Given the description of an element on the screen output the (x, y) to click on. 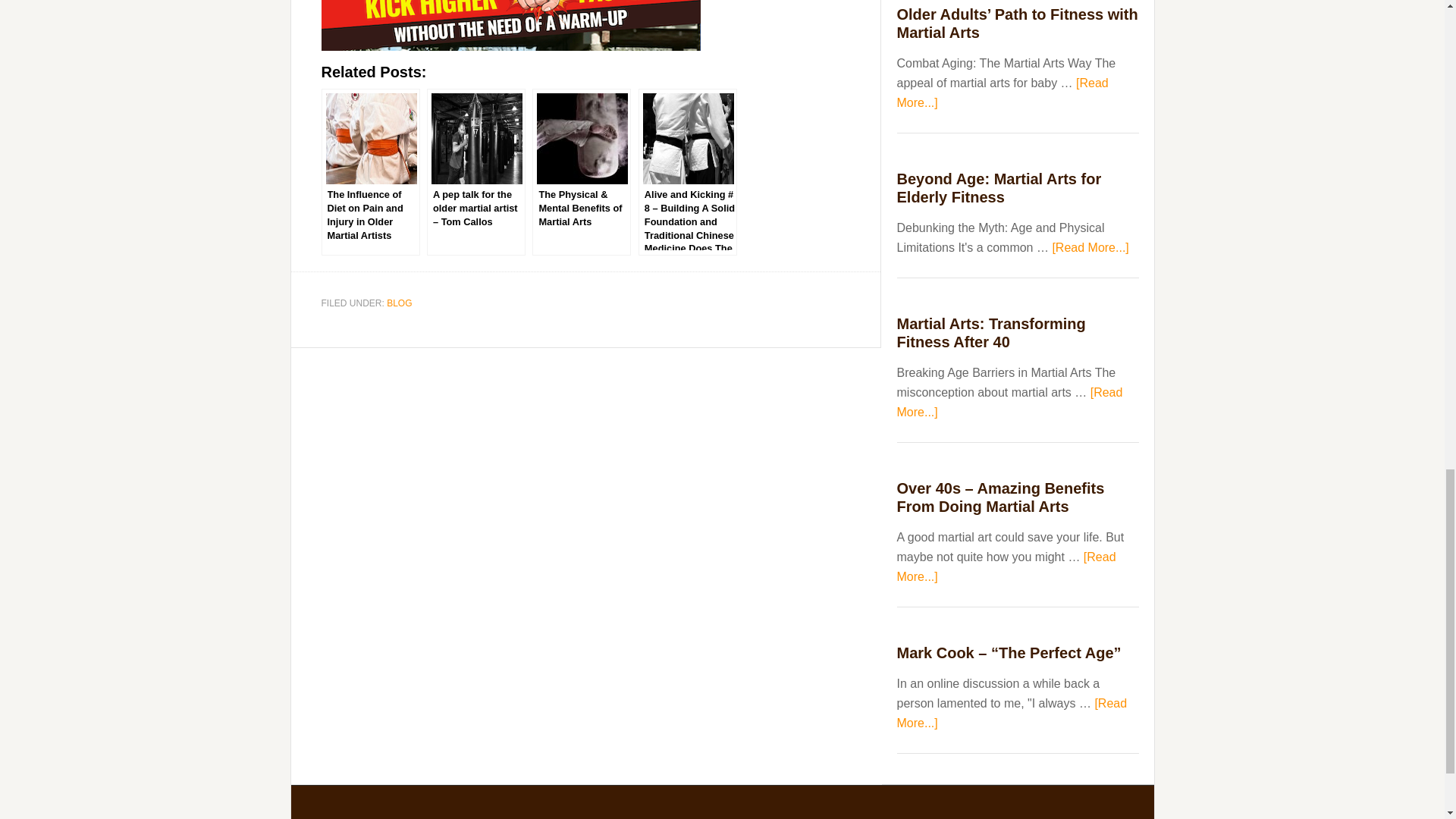
BLOG (399, 303)
Martial Arts: Transforming Fitness After 40 (990, 332)
Beyond Age: Martial Arts for Elderly Fitness (998, 187)
